Given the description of an element on the screen output the (x, y) to click on. 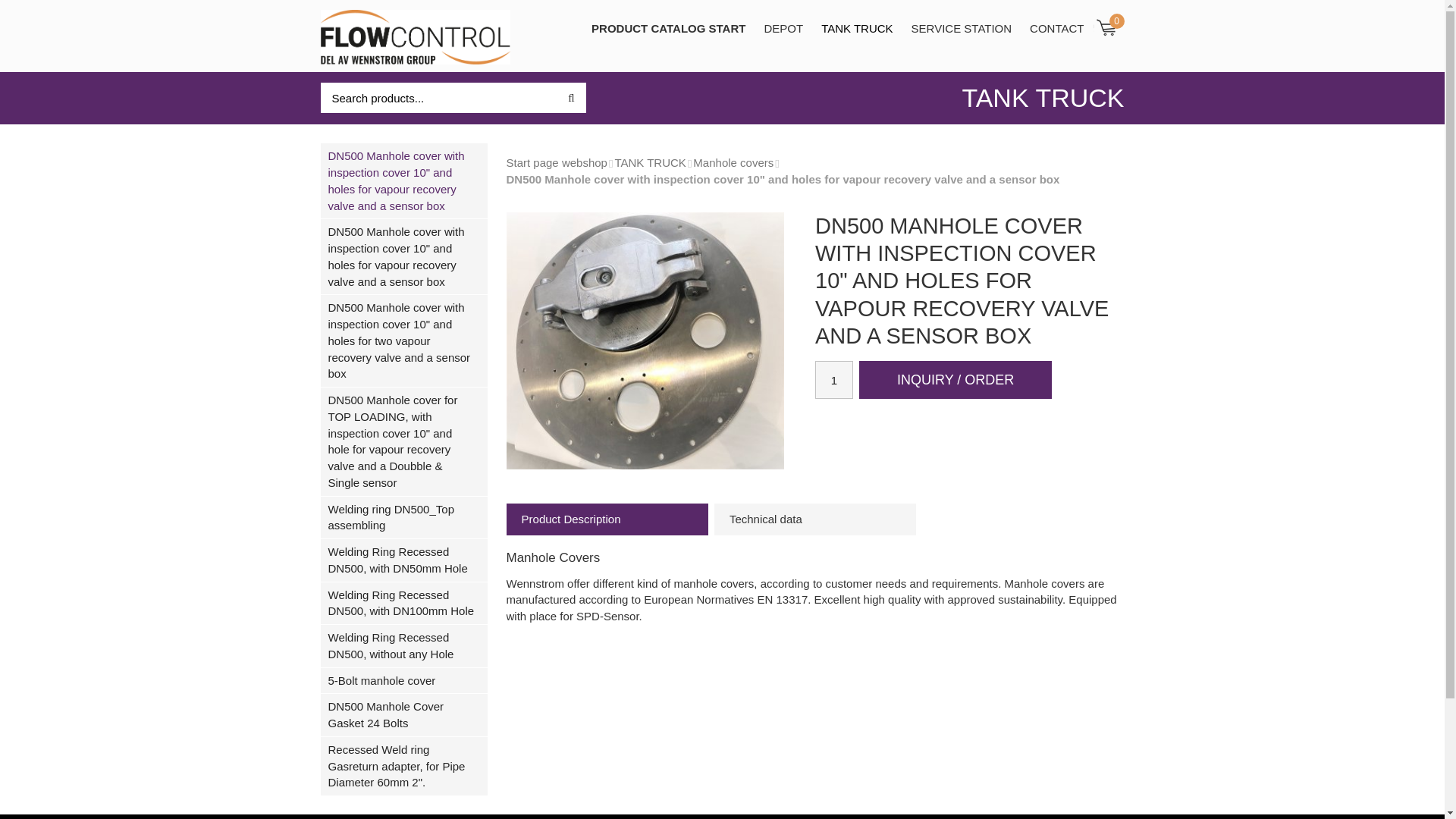
DN500 Manhole cover with inspection cover 10 (403, 181)
DN500 Manhole Cover Gasket 24 Bolts (403, 715)
Start page webshop (556, 162)
Welding Ring Recessed DN500, without any Hole (403, 646)
Welding Ring Recessed DN500, with DN50mm Hole (403, 560)
TANK TRUCK (856, 28)
Quantity (834, 379)
Manhole covers (733, 162)
CONTACT (1056, 28)
